Given the description of an element on the screen output the (x, y) to click on. 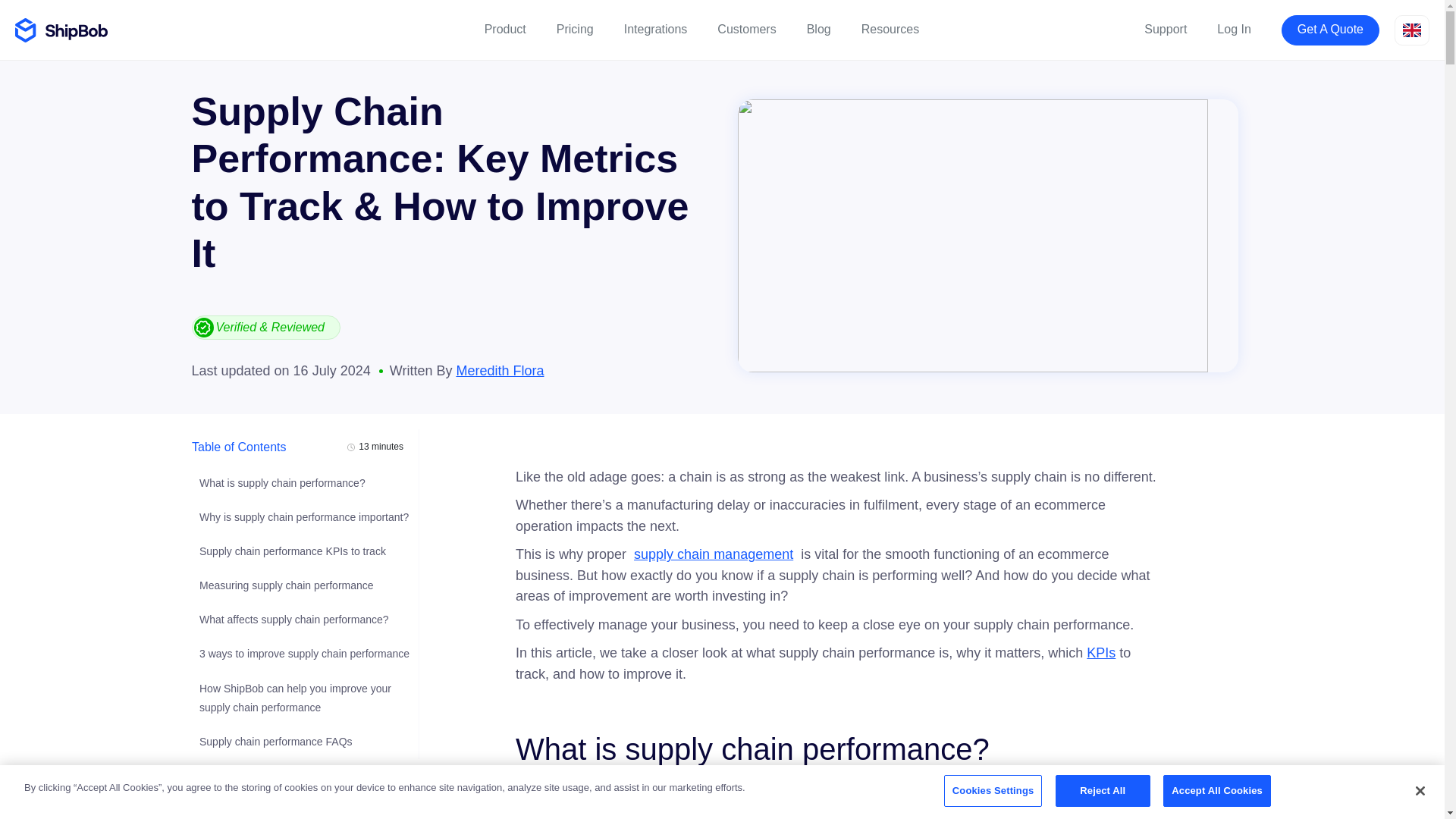
supply chain management (713, 554)
Log In (1233, 29)
What is supply chain performance? (281, 482)
3 ways to improve supply chain performance (303, 653)
Why is supply chain performance important? (302, 517)
Supply chain performance KPIs to track (291, 551)
Product (504, 29)
KPIs (1100, 652)
ecommerce supply chain (998, 807)
Meredith Flora (499, 370)
Support (1165, 29)
Integrations (655, 29)
Supply chain performance FAQs (275, 741)
Blog (818, 29)
